Given the description of an element on the screen output the (x, y) to click on. 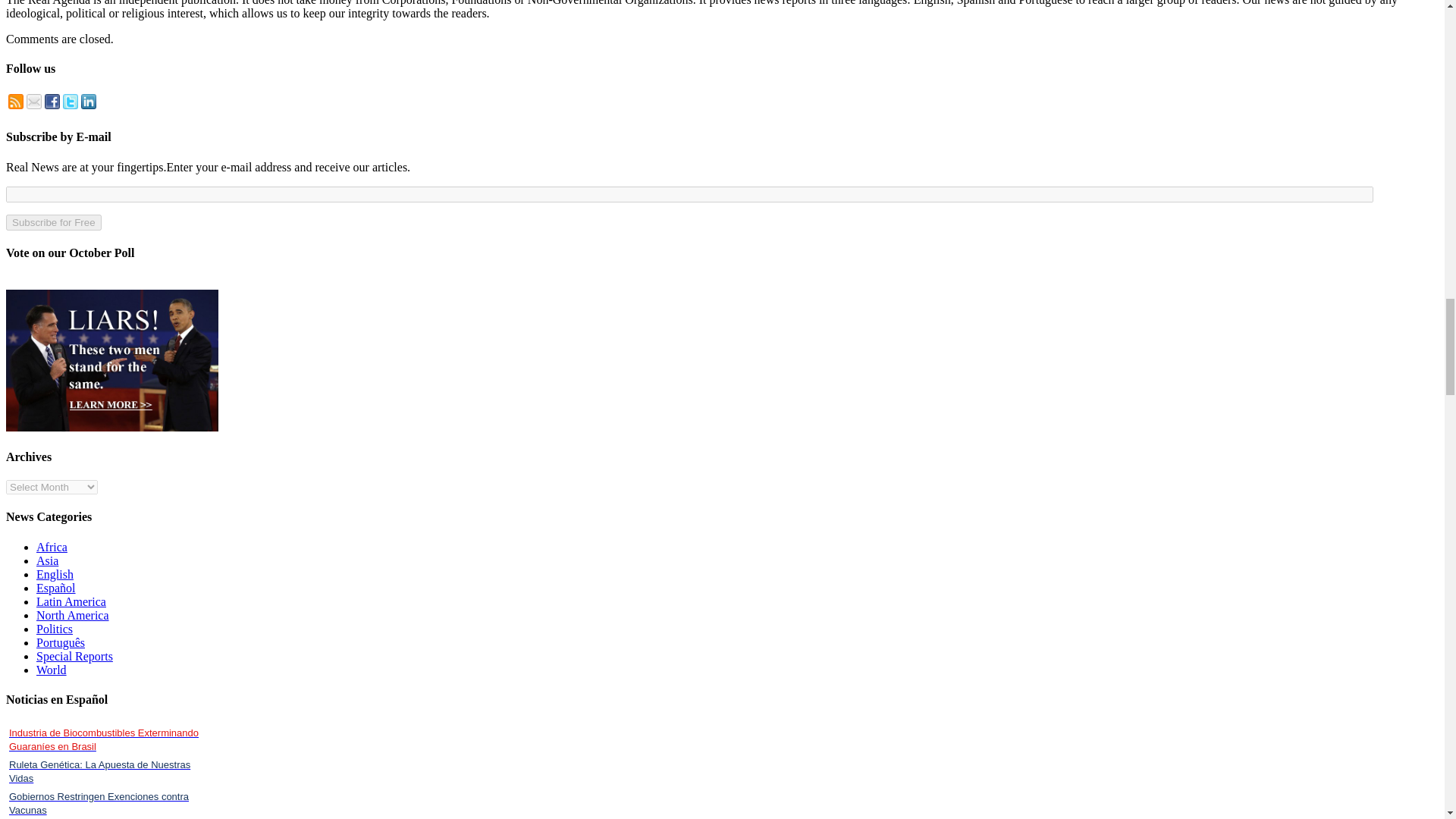
Subscribe for Free (53, 222)
